Given the description of an element on the screen output the (x, y) to click on. 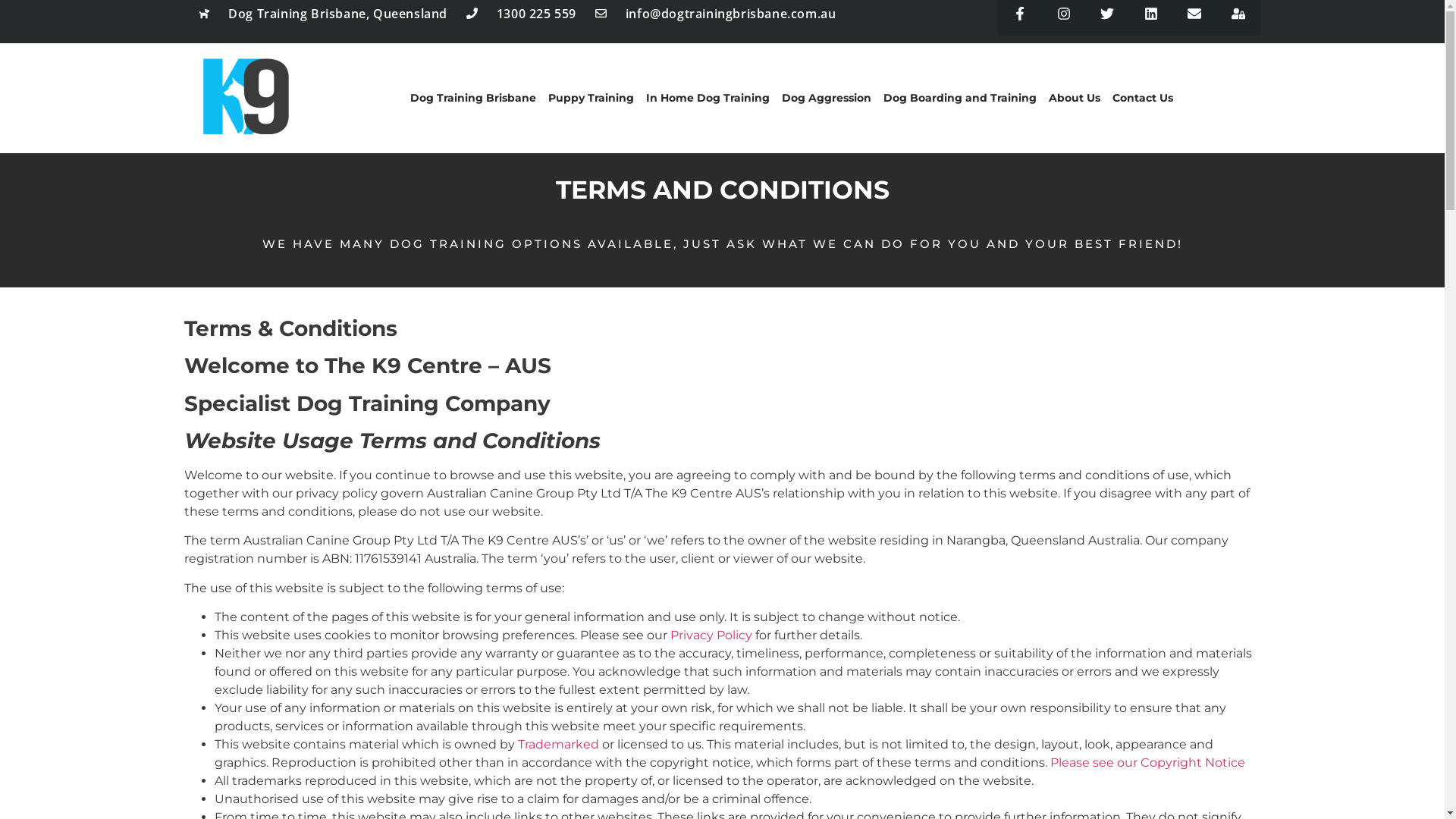
In Home Dog Training Element type: text (707, 97)
Dog Aggression Element type: text (826, 97)
info@dogtrainingbrisbane.com.au Element type: text (715, 13)
Privacy Policy Element type: text (709, 634)
The K9 Centre Dog Trainers Brisbane All Suburbs Element type: hover (246, 96)
Dog Training Brisbane Element type: text (473, 97)
Dog Training Brisbane, Queensland Element type: text (323, 13)
Puppy Training Element type: text (591, 97)
Dog Boarding and Training Element type: text (959, 97)
Please see our Copyright Notice Element type: text (1146, 762)
About Us Element type: text (1074, 97)
Contact Us Element type: text (1142, 97)
Trademarked Element type: text (559, 744)
1300 225 559 Element type: text (521, 13)
